Given the description of an element on the screen output the (x, y) to click on. 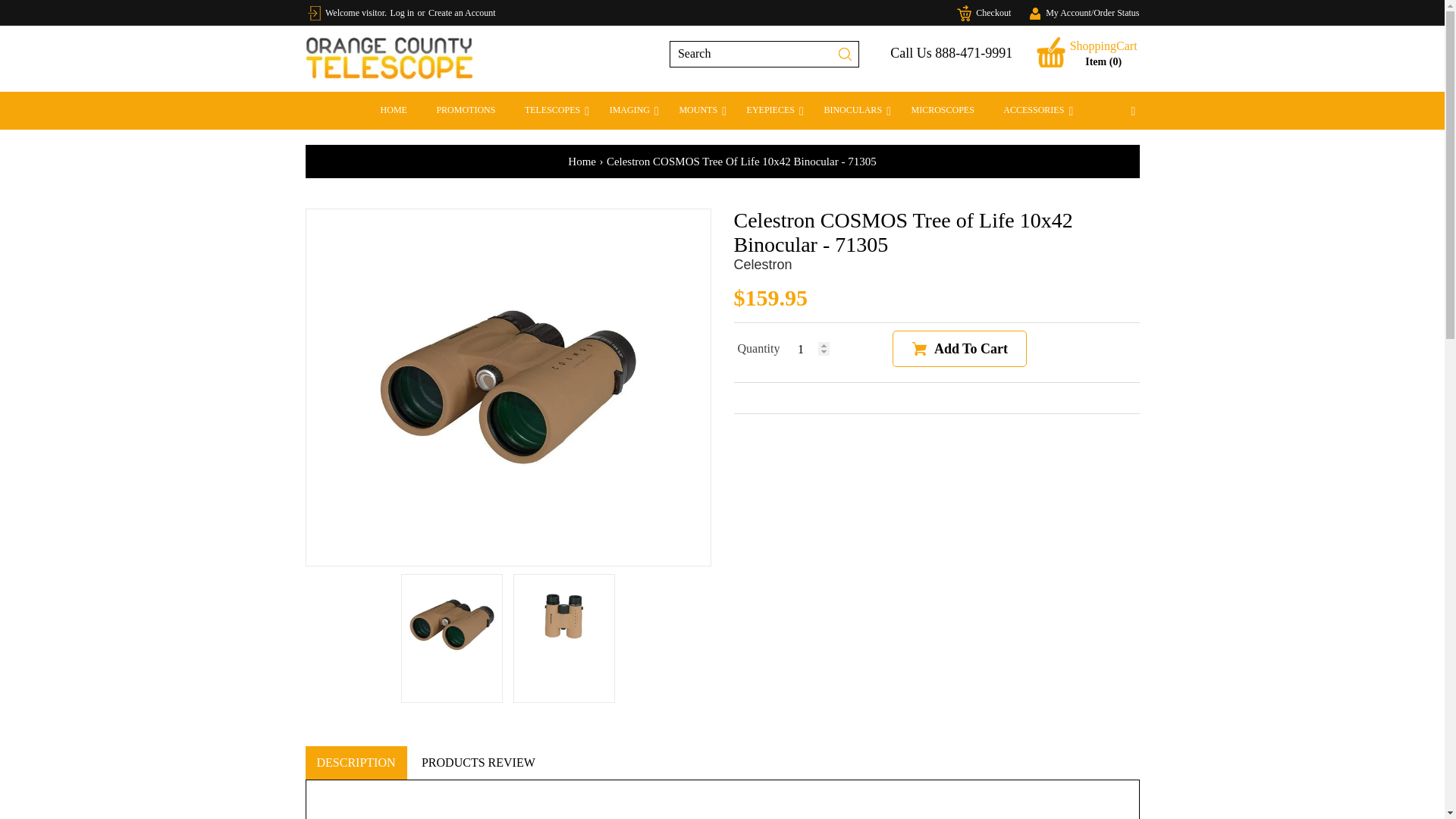
1 (813, 348)
Home (581, 161)
